Given the description of an element on the screen output the (x, y) to click on. 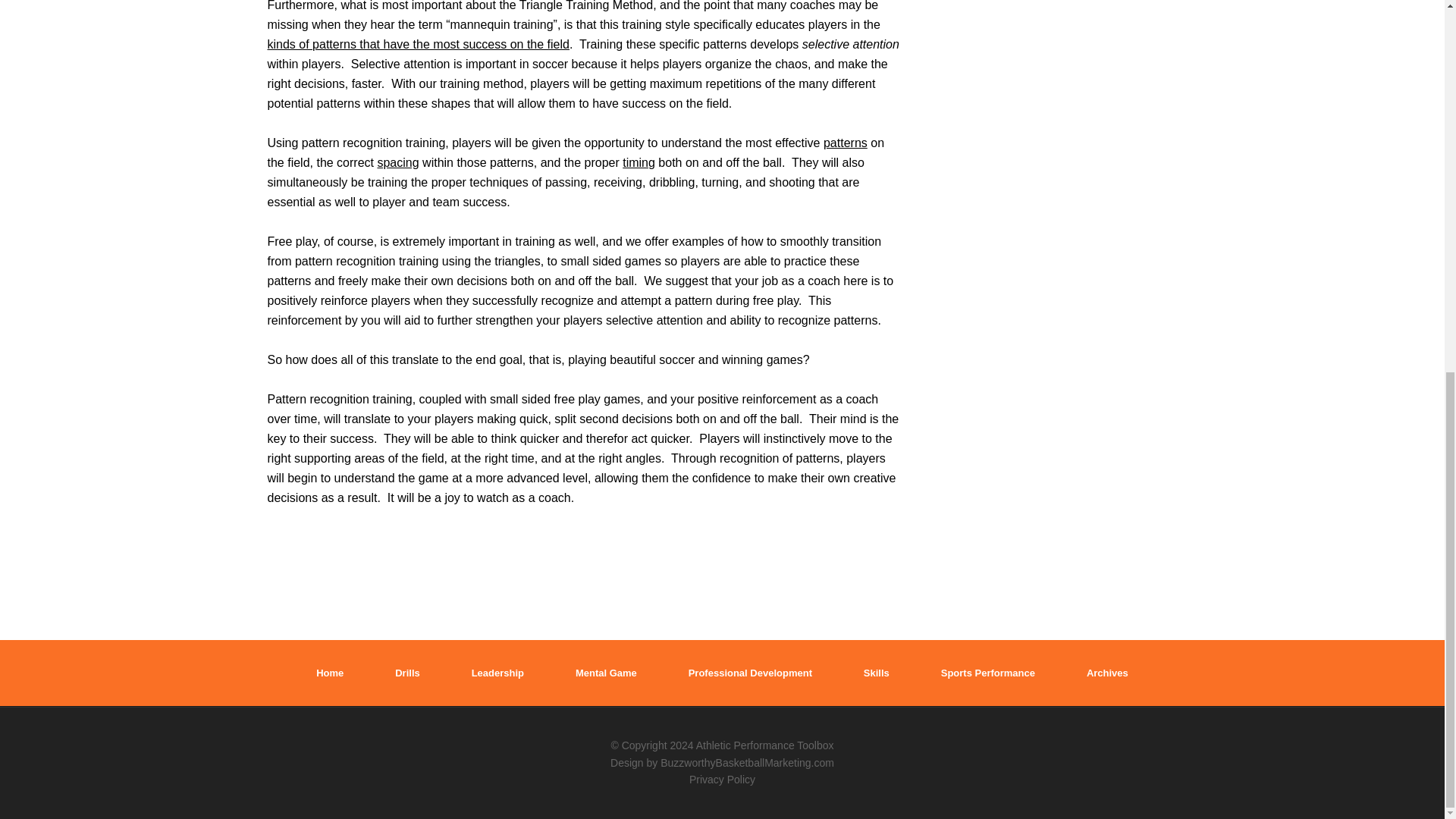
Drills (407, 672)
Professional Development (750, 672)
Skills (876, 672)
BuzzworthyBasketballMarketing.com (747, 762)
Sports Performance (987, 672)
Athletic Performance Toolbox (764, 745)
Privacy Policy (721, 779)
Home (329, 672)
Mental Game (606, 672)
Leadership (497, 672)
